Given the description of an element on the screen output the (x, y) to click on. 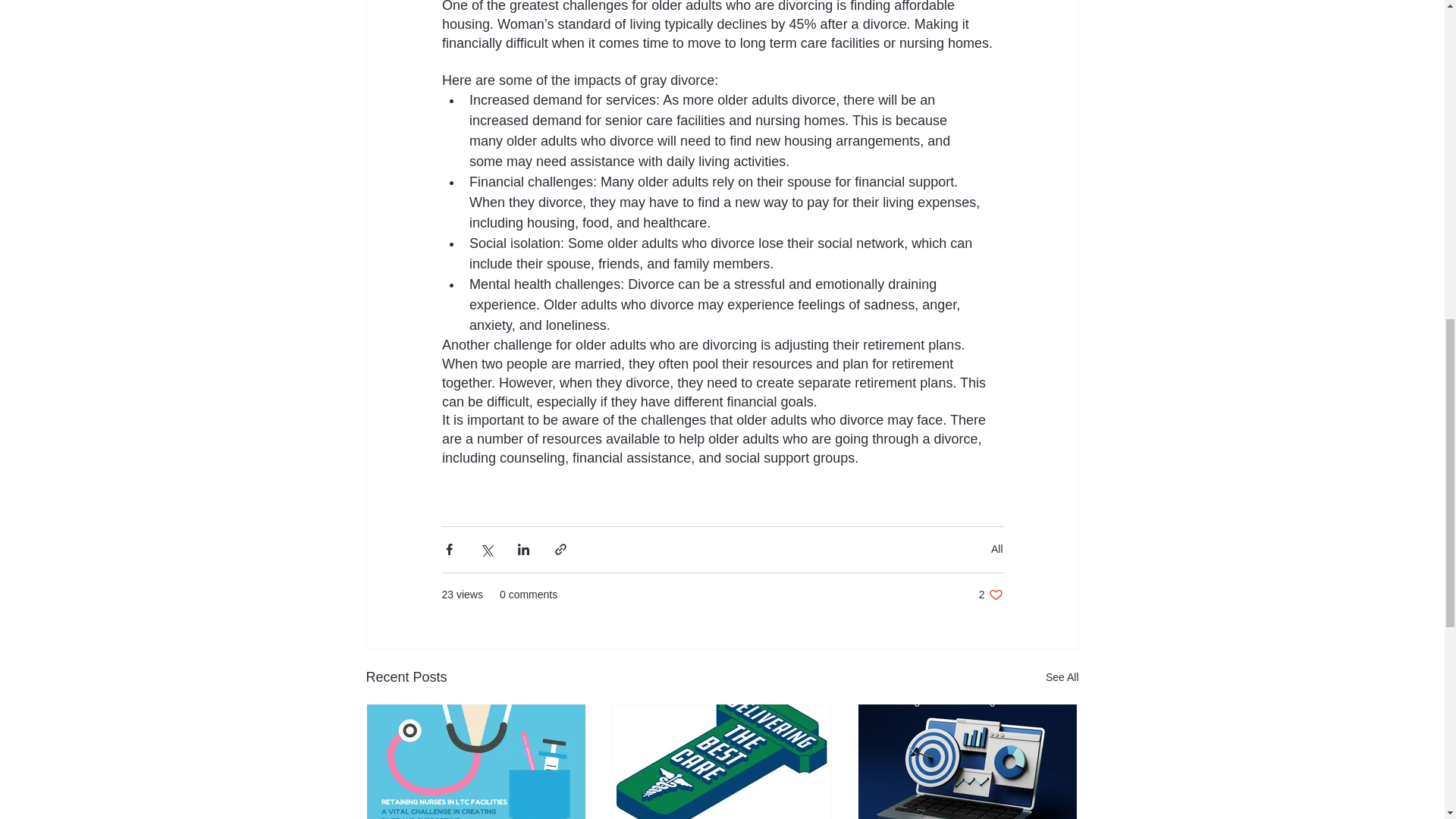
See All (1061, 677)
All (990, 594)
